Given the description of an element on the screen output the (x, y) to click on. 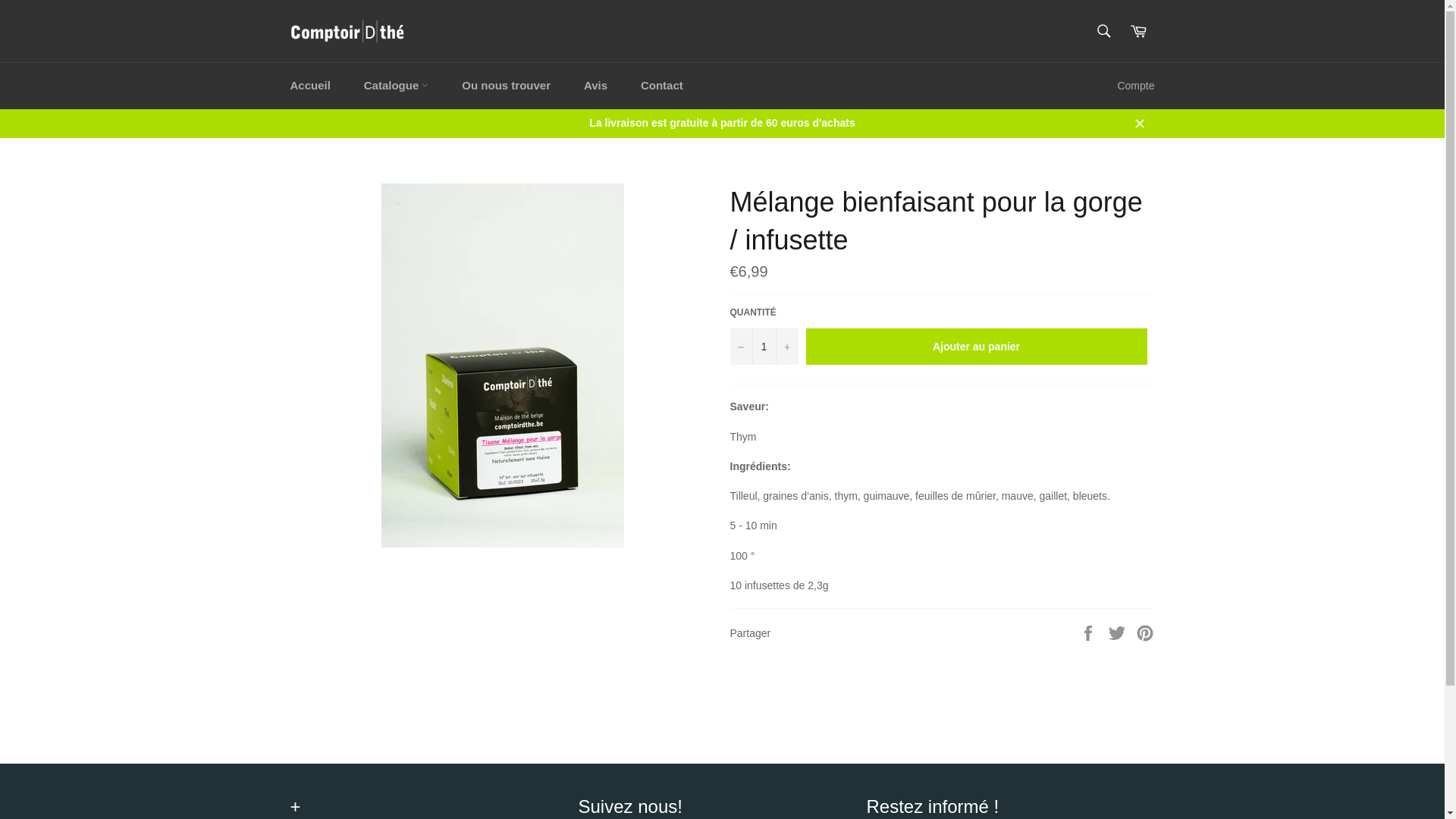
Accueil Element type: text (309, 85)
Tweeter sur Twitter Element type: text (1118, 632)
Close Element type: text (1138, 123)
Recherche Element type: text (1104, 31)
Catalogue Element type: text (396, 85)
Contact Element type: text (661, 85)
Partager sur Facebook Element type: text (1089, 632)
Avis Element type: text (595, 85)
Panier Element type: text (1138, 31)
Compte Element type: text (1135, 85)
Ou nous trouver Element type: text (505, 85)
+ Element type: text (786, 346)
Ajouter au panier Element type: text (975, 346)
